Given the description of an element on the screen output the (x, y) to click on. 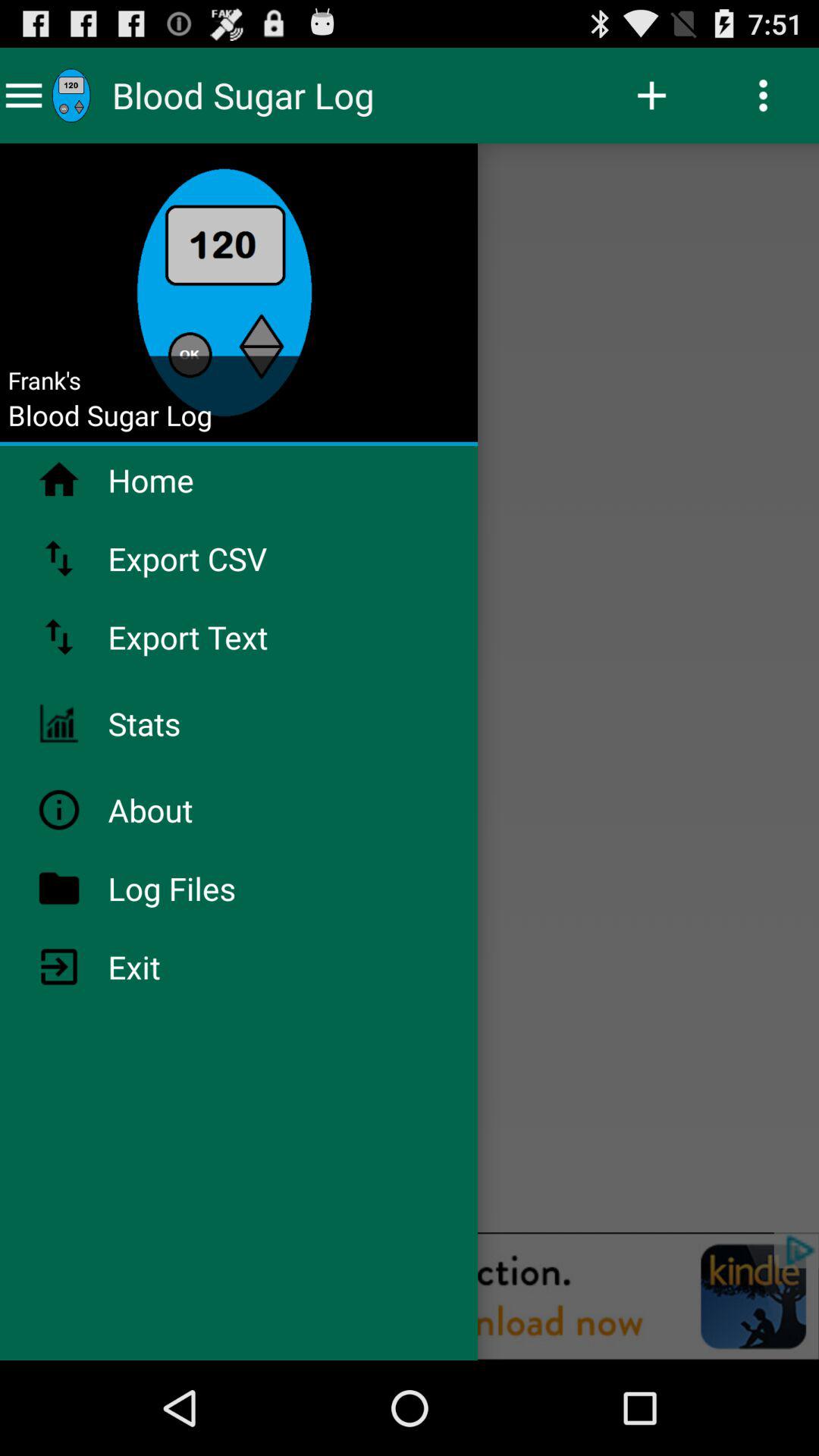
tap the item above log files app (190, 809)
